Given the description of an element on the screen output the (x, y) to click on. 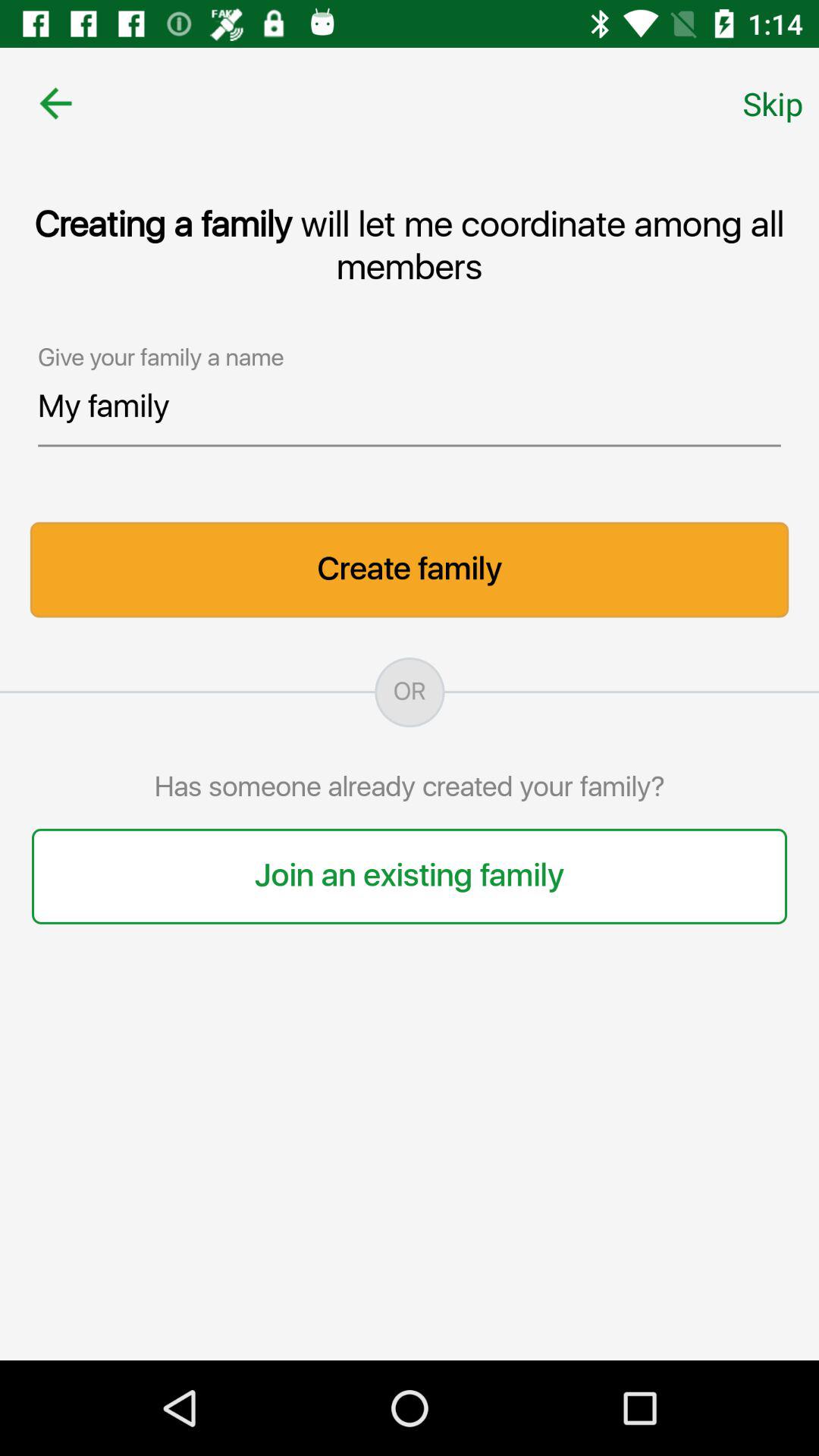
click the icon next to skip icon (55, 103)
